Given the description of an element on the screen output the (x, y) to click on. 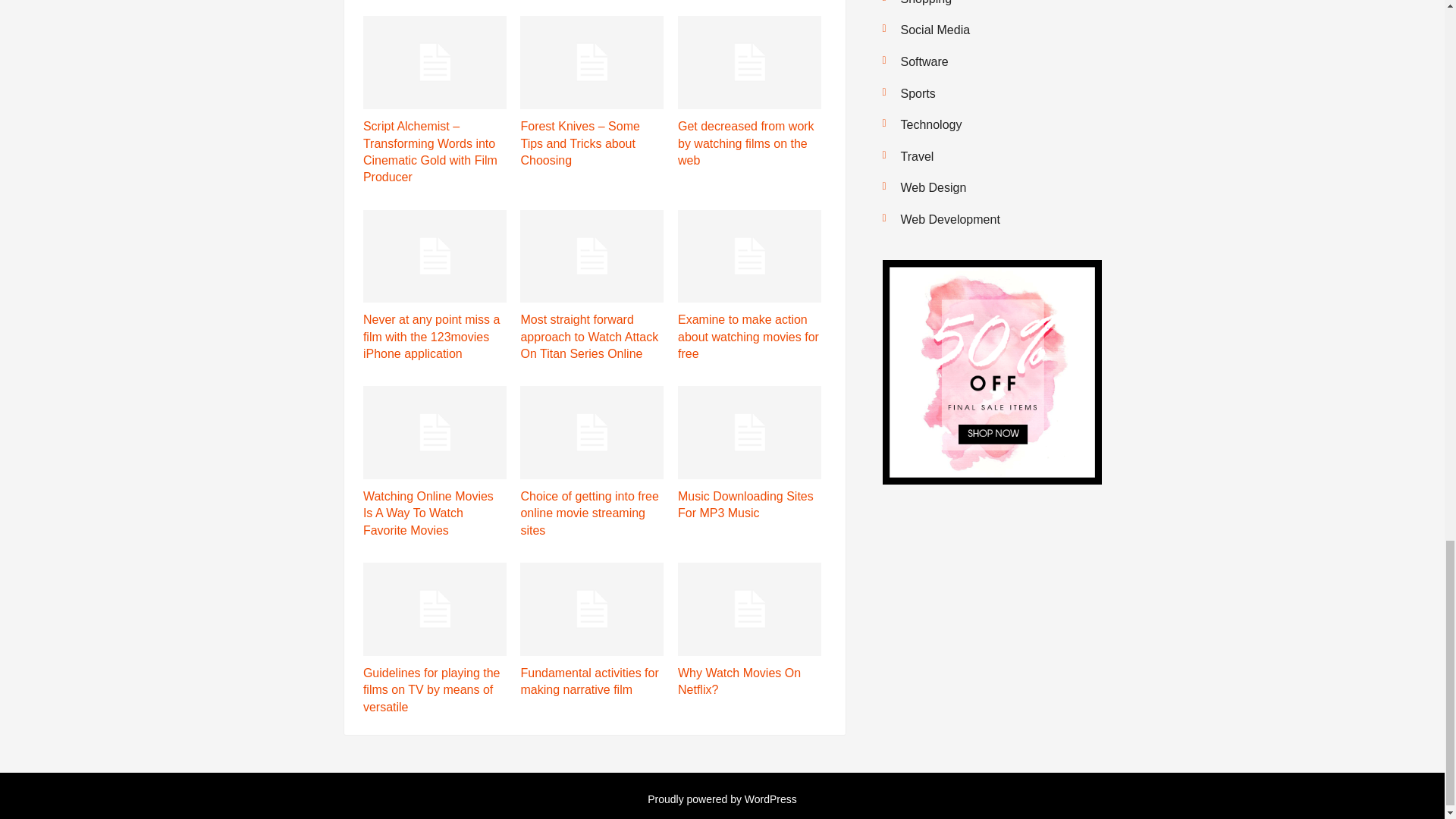
Fundamental activities for making narrative film (588, 681)
Guidelines for playing the films on TV by means of versatile (431, 689)
Choice of getting into free online movie streaming sites (588, 513)
Why Watch Movies On Netflix? (739, 681)
Music Downloading Sites For MP3 Music (745, 504)
Watching Online Movies Is A Way To Watch Favorite Movies (427, 513)
Get decreased from work by watching films on the web (745, 143)
Examine to make action about watching movies for free (748, 336)
